Given the description of an element on the screen output the (x, y) to click on. 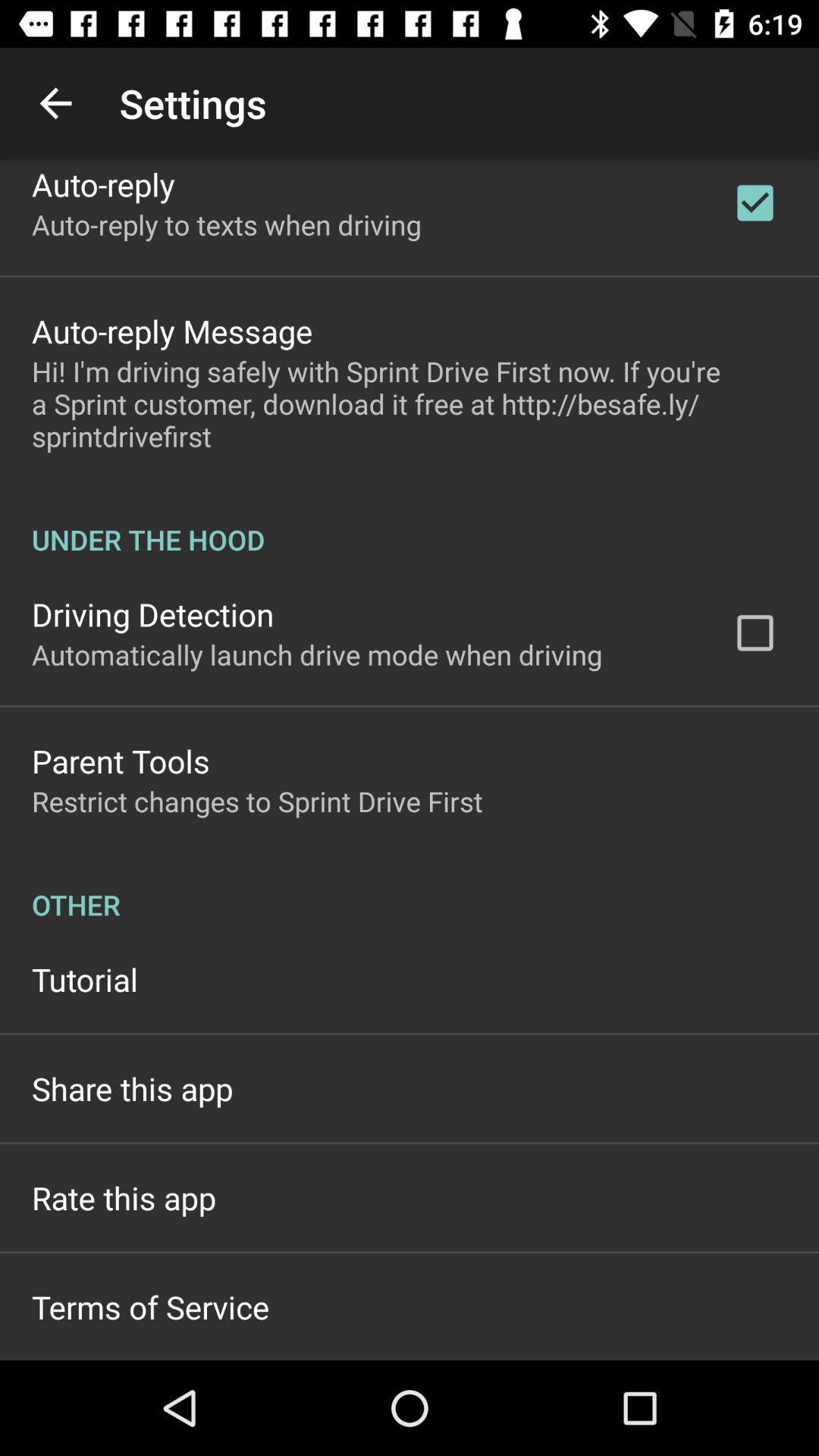
turn off the terms of service item (150, 1306)
